Given the description of an element on the screen output the (x, y) to click on. 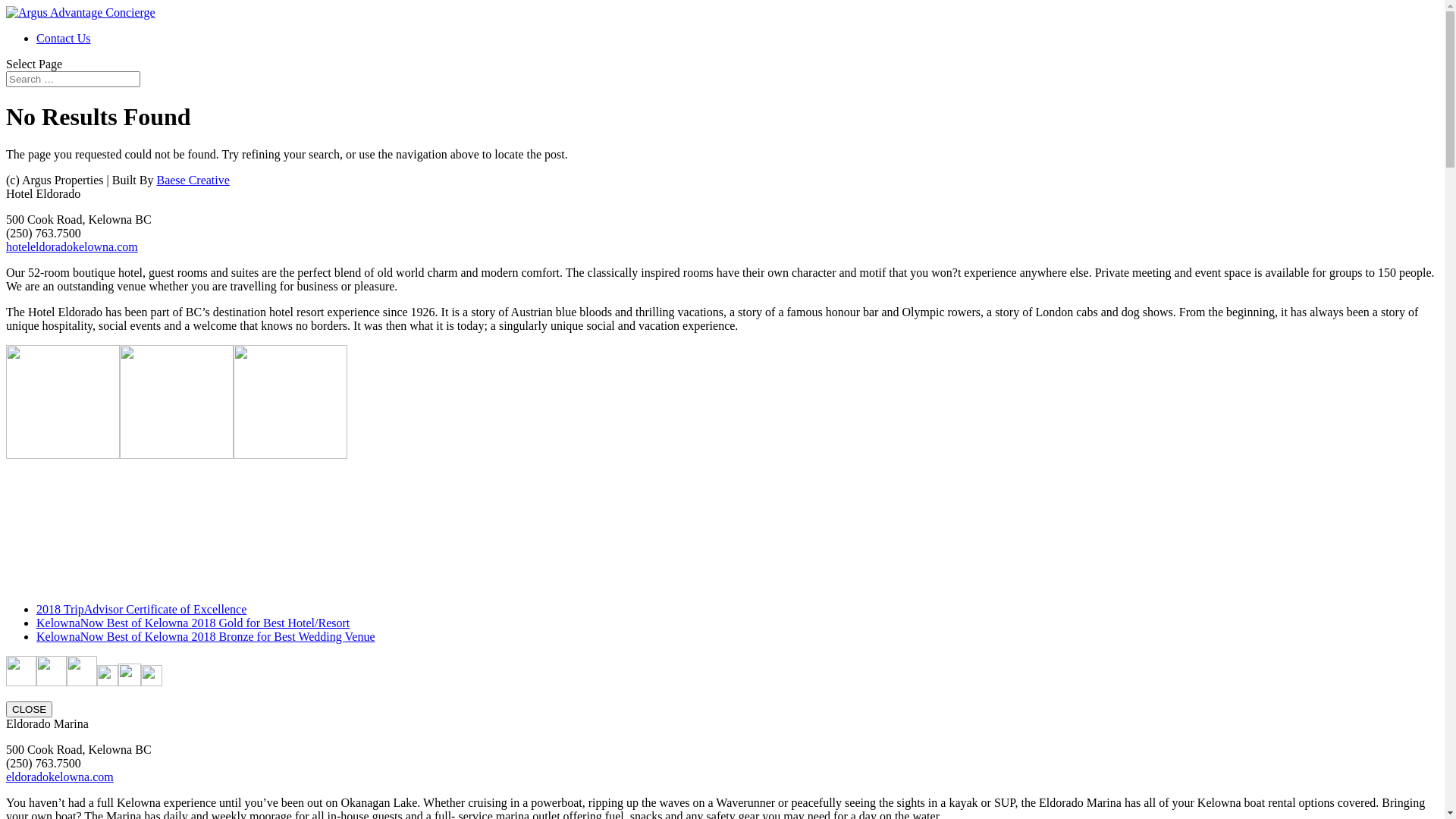
2018 TripAdvisor Certificate of Excellence Element type: text (141, 608)
KelownaNow Best of Kelowna 2018 Gold for Best Hotel/Resort Element type: text (192, 622)
CLOSE Element type: text (29, 709)
Baese Creative Element type: text (192, 179)
Contact Us Element type: text (63, 37)
eldoradokelowna.com Element type: text (59, 776)
Search for: Element type: hover (73, 79)
hoteleldoradokelowna.com Element type: text (72, 246)
